Given the description of an element on the screen output the (x, y) to click on. 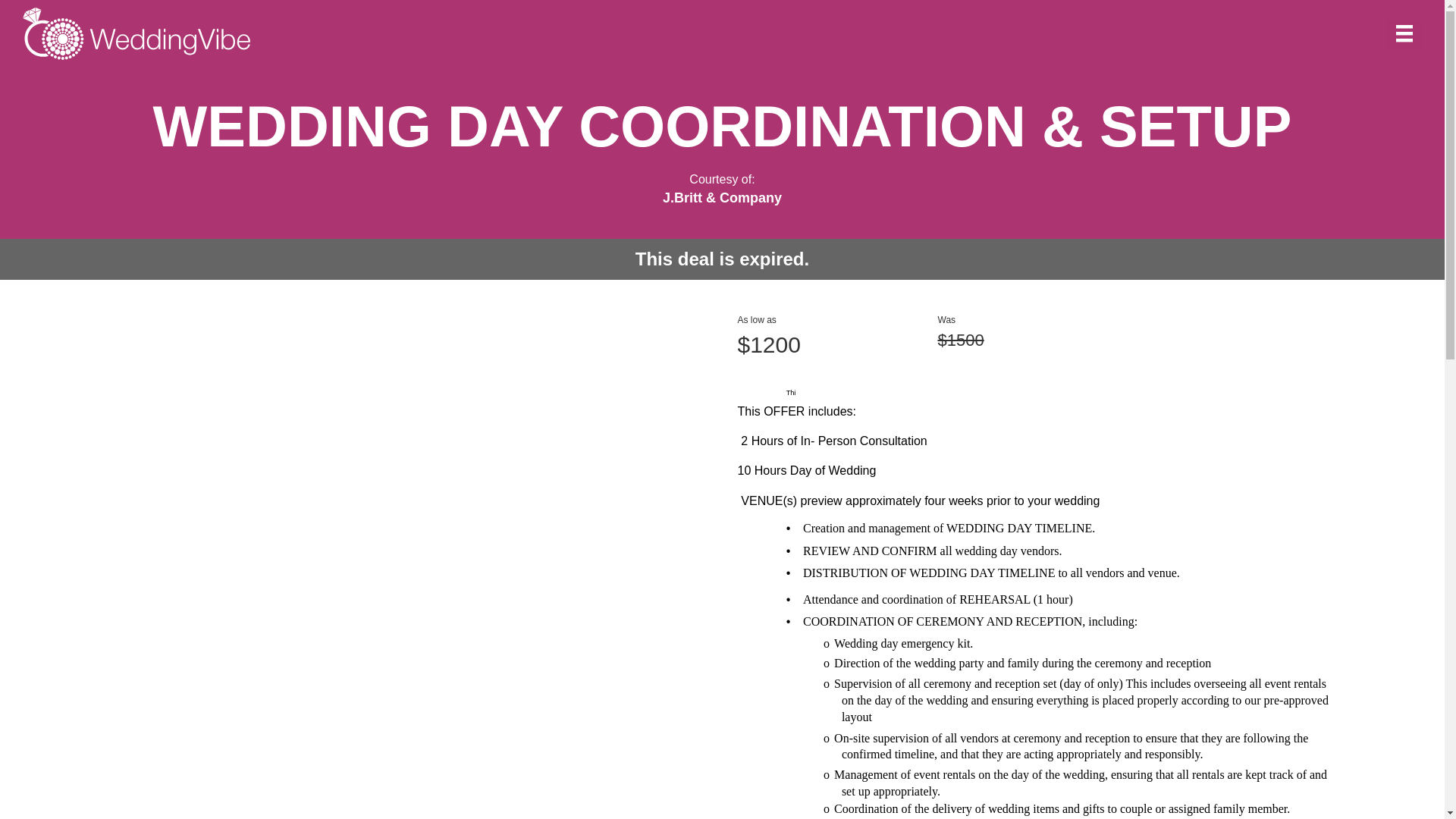
WeddingVibe-logo-magenta (136, 33)
